Given the description of an element on the screen output the (x, y) to click on. 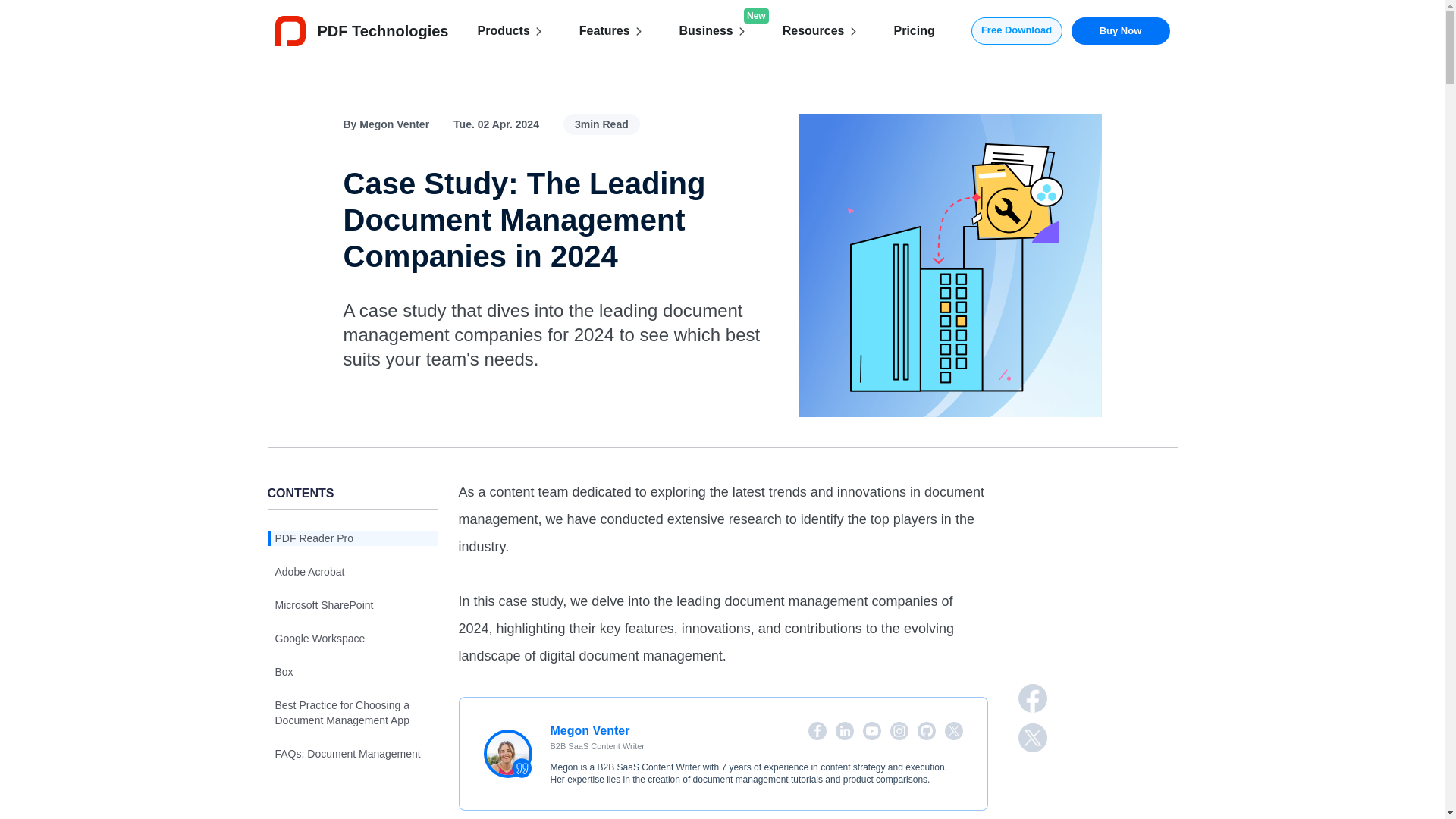
PDF Technologies (361, 30)
